Given the description of an element on the screen output the (x, y) to click on. 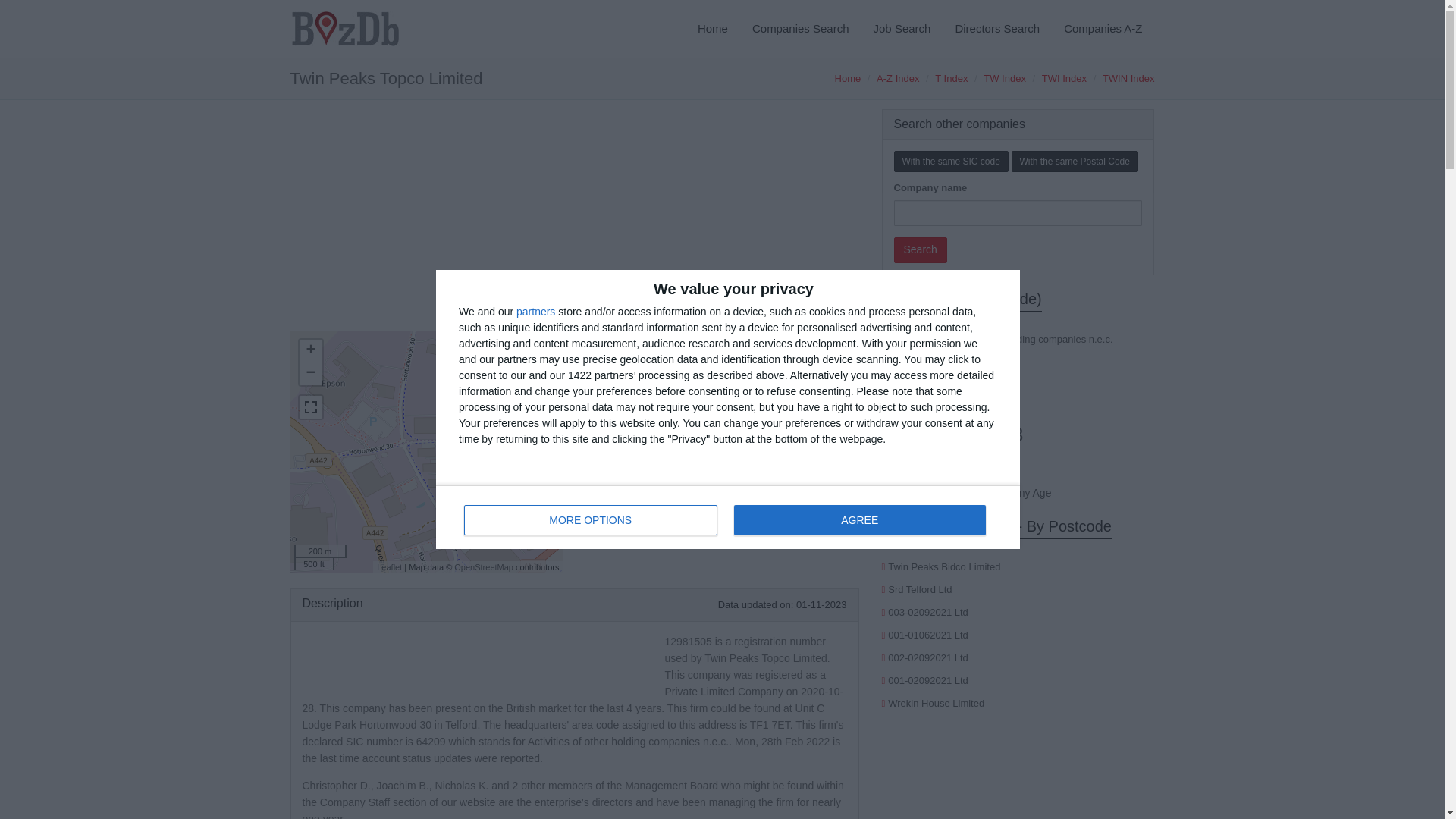
AGREE (859, 520)
Srd Telford Ltd (920, 589)
A JS library for interactive maps (389, 566)
Zoom in (309, 350)
the day the company was formed (722, 473)
Zoom out (309, 373)
TW Index (1005, 78)
Job Search (902, 28)
A-Z Index (897, 78)
TWIN Index (1128, 78)
Home (847, 78)
Twin Peaks Bidco Limited (944, 566)
Directors Search (996, 28)
MORE OPTIONS (590, 520)
T Index (951, 78)
